Given the description of an element on the screen output the (x, y) to click on. 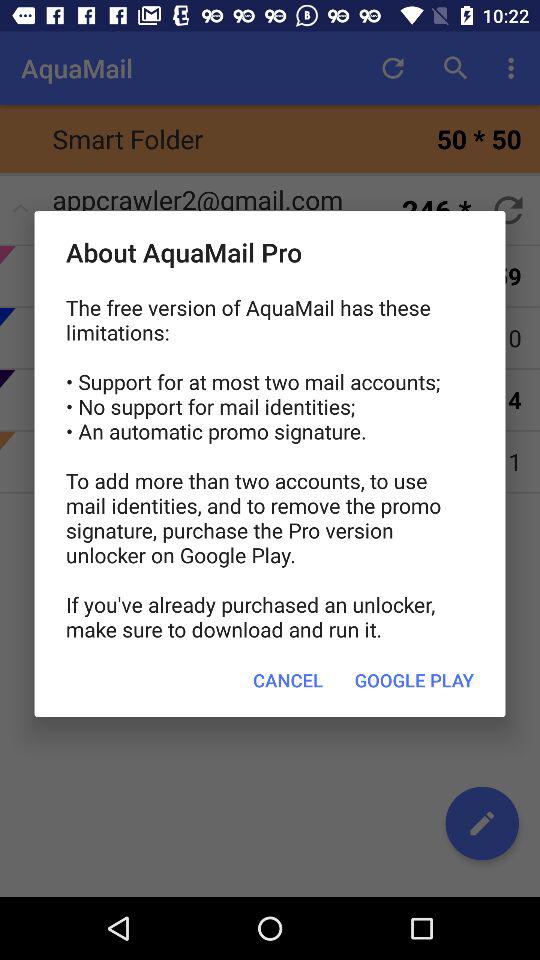
choose item next to google play (287, 679)
